Given the description of an element on the screen output the (x, y) to click on. 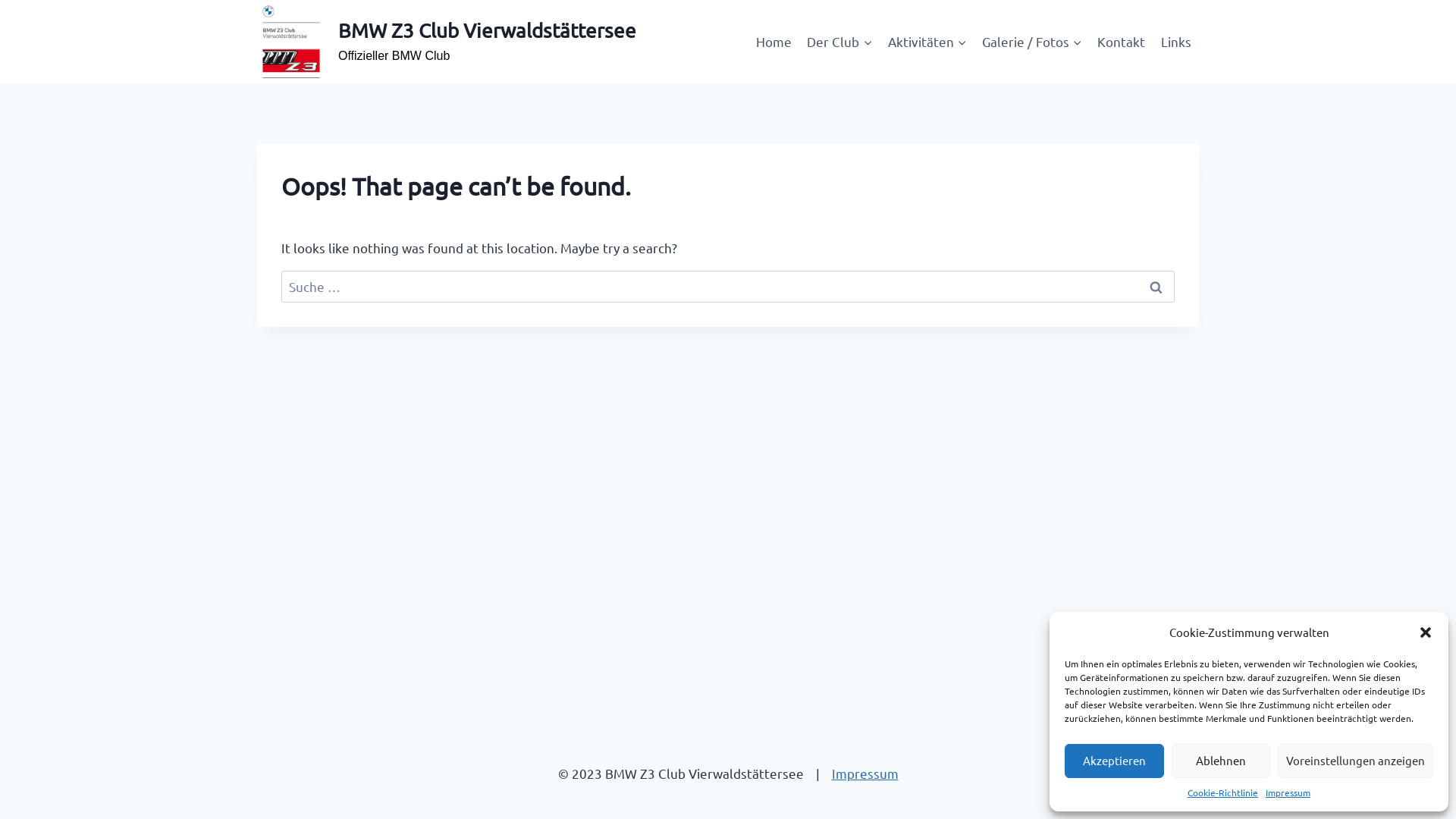
Impressum Element type: text (864, 773)
Home Element type: text (773, 41)
Galerie / Fotos Element type: text (1031, 41)
Ablehnen Element type: text (1220, 760)
Kontakt Element type: text (1120, 41)
Links Element type: text (1175, 41)
Der Club Element type: text (839, 41)
Cookie-Richtlinie Element type: text (1222, 792)
Akzeptieren Element type: text (1114, 760)
Impressum Element type: text (1287, 792)
Suche Element type: text (1155, 286)
Voreinstellungen anzeigen Element type: text (1355, 760)
